Given the description of an element on the screen output the (x, y) to click on. 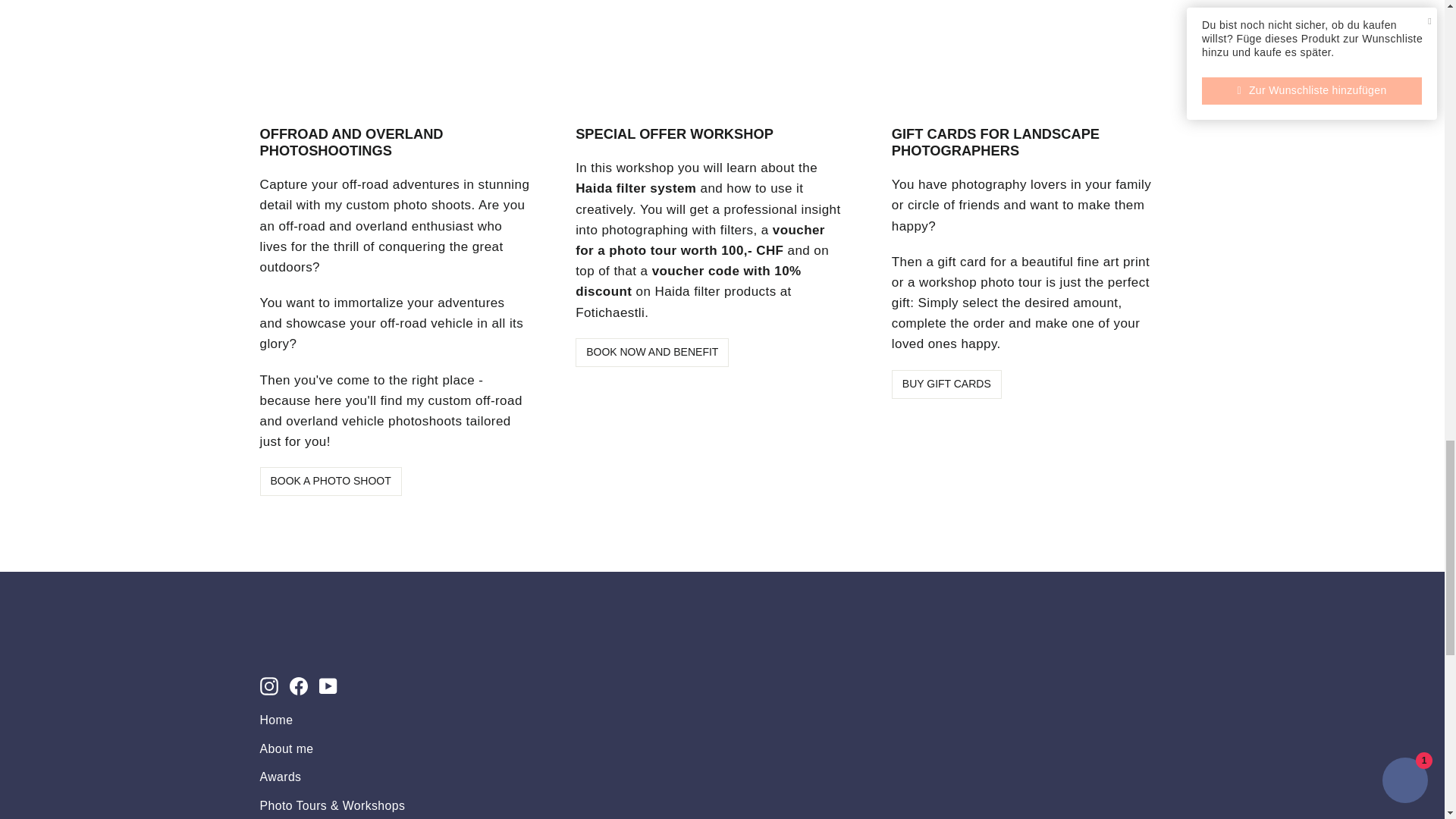
instagram (268, 686)
Manuel Mohorovic Photography on YouTube (327, 685)
Manuel Mohorovic Photography on Facebook (298, 685)
